Given the description of an element on the screen output the (x, y) to click on. 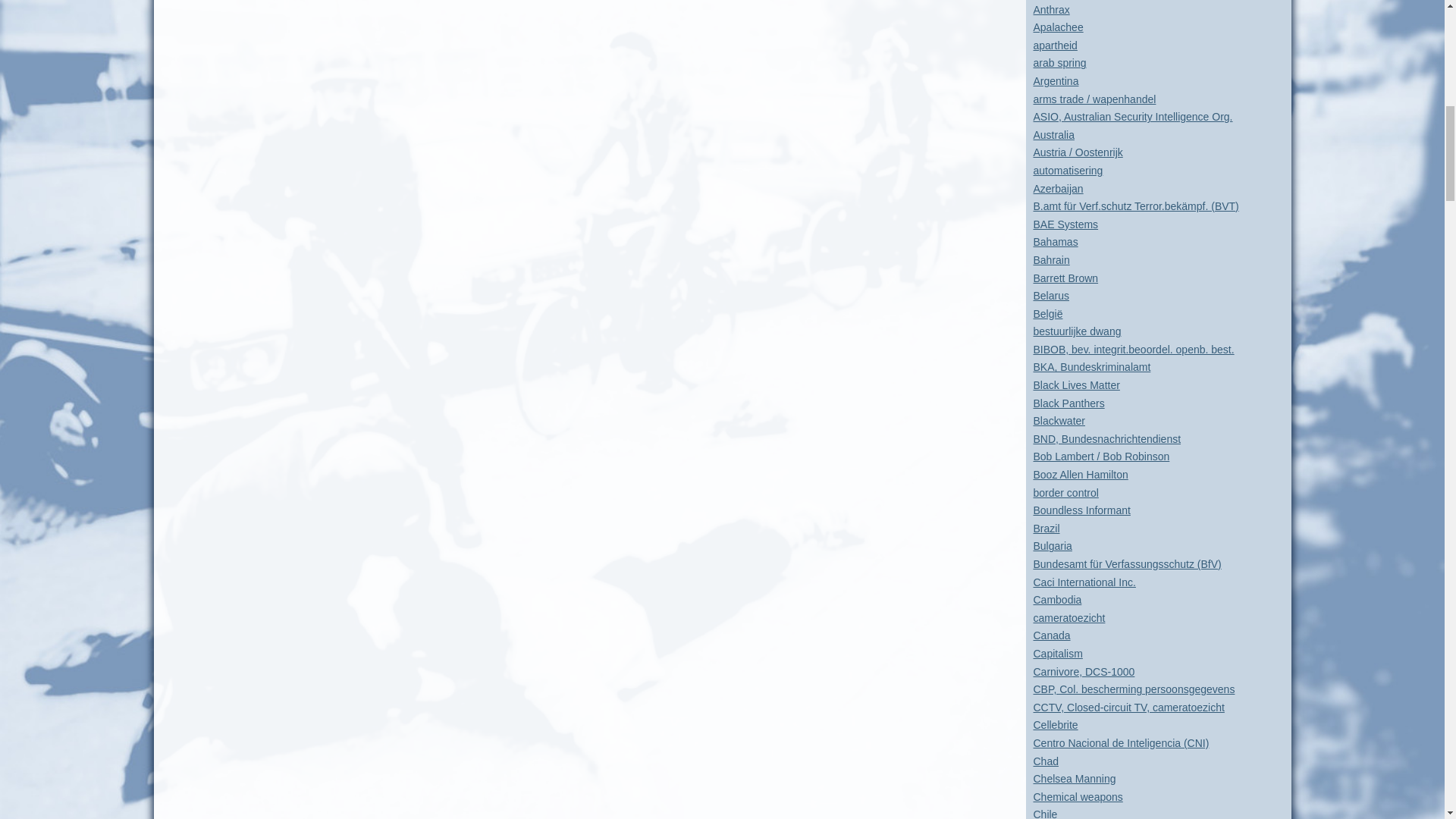
Bahrain (1050, 259)
Australia (1053, 134)
Apalachee (1057, 27)
Barrett Brown (1064, 277)
apartheid (1054, 45)
Bahamas (1054, 241)
Anthrax (1050, 9)
automatisering (1067, 170)
arab spring (1059, 62)
Belarus (1050, 295)
Azerbaijan (1057, 188)
ASIO, Australian Security Intelligence Org. (1131, 116)
Argentina (1055, 80)
BAE Systems (1064, 224)
